Given the description of an element on the screen output the (x, y) to click on. 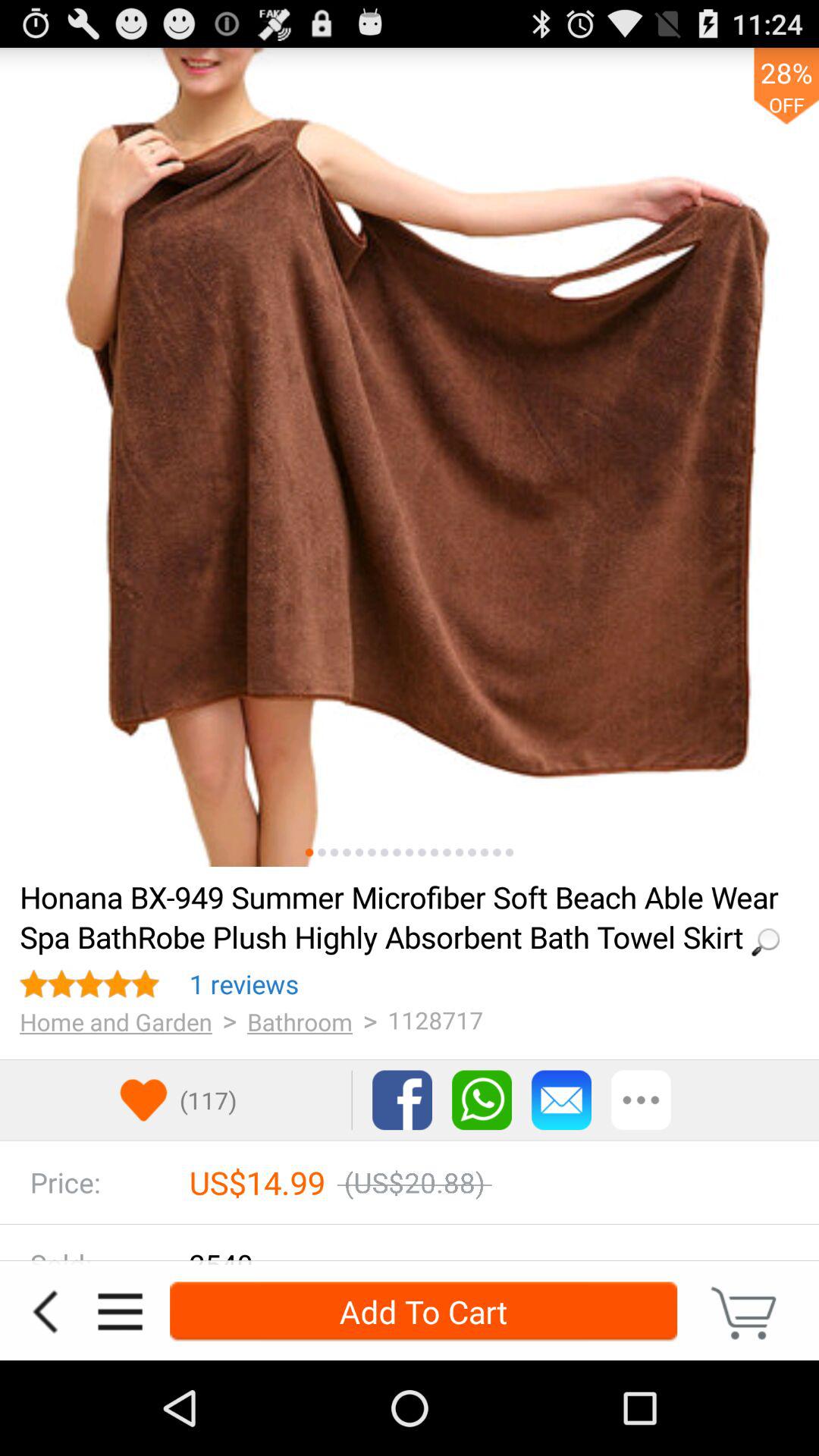
another picture middle (371, 852)
